Given the description of an element on the screen output the (x, y) to click on. 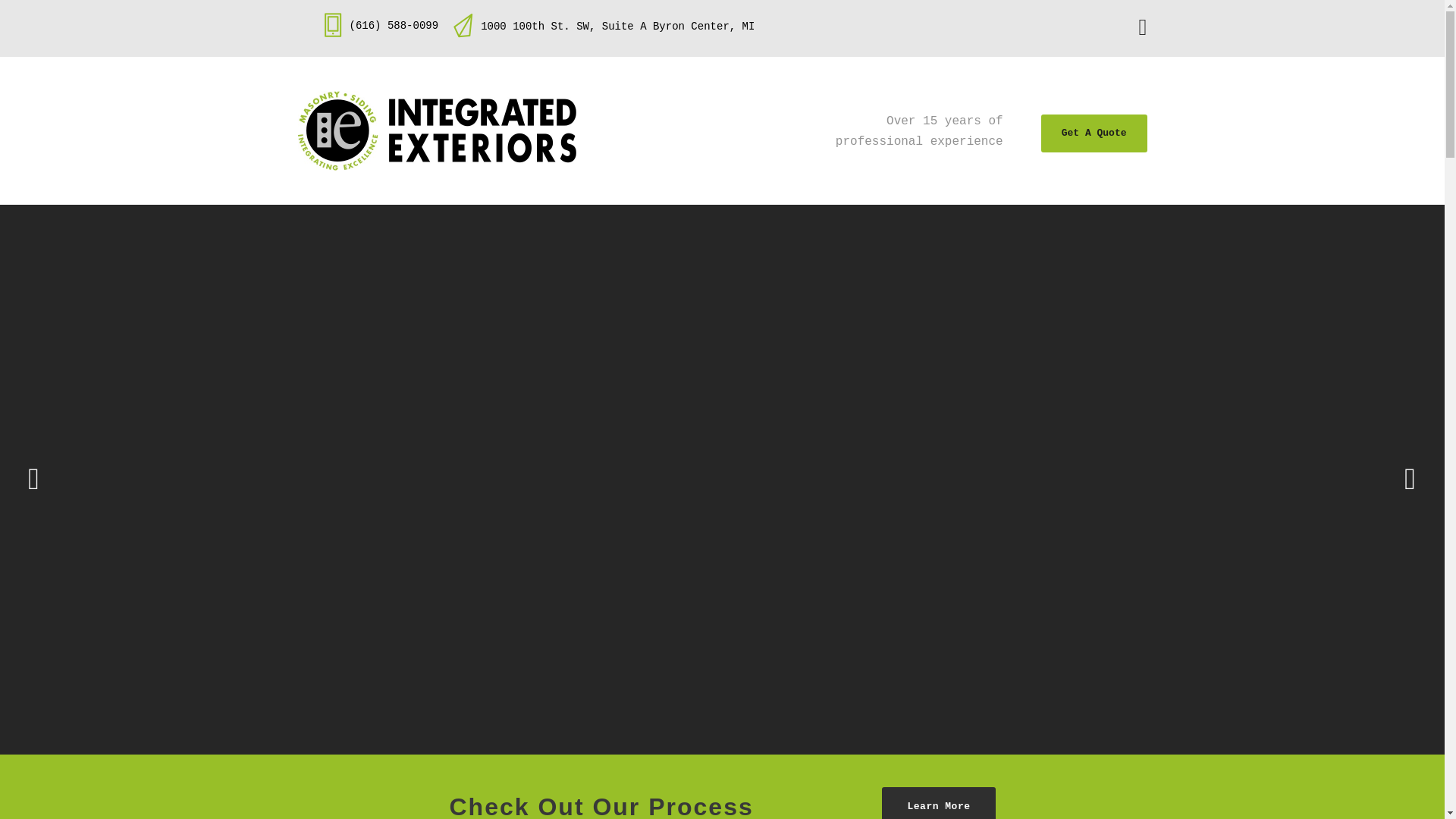
Learn More (938, 803)
About (595, 239)
Home (498, 239)
Capabilities (709, 239)
email (1142, 31)
Get A Quote (1094, 133)
Contact (939, 239)
logo (436, 130)
Portfolio (829, 239)
